Given the description of an element on the screen output the (x, y) to click on. 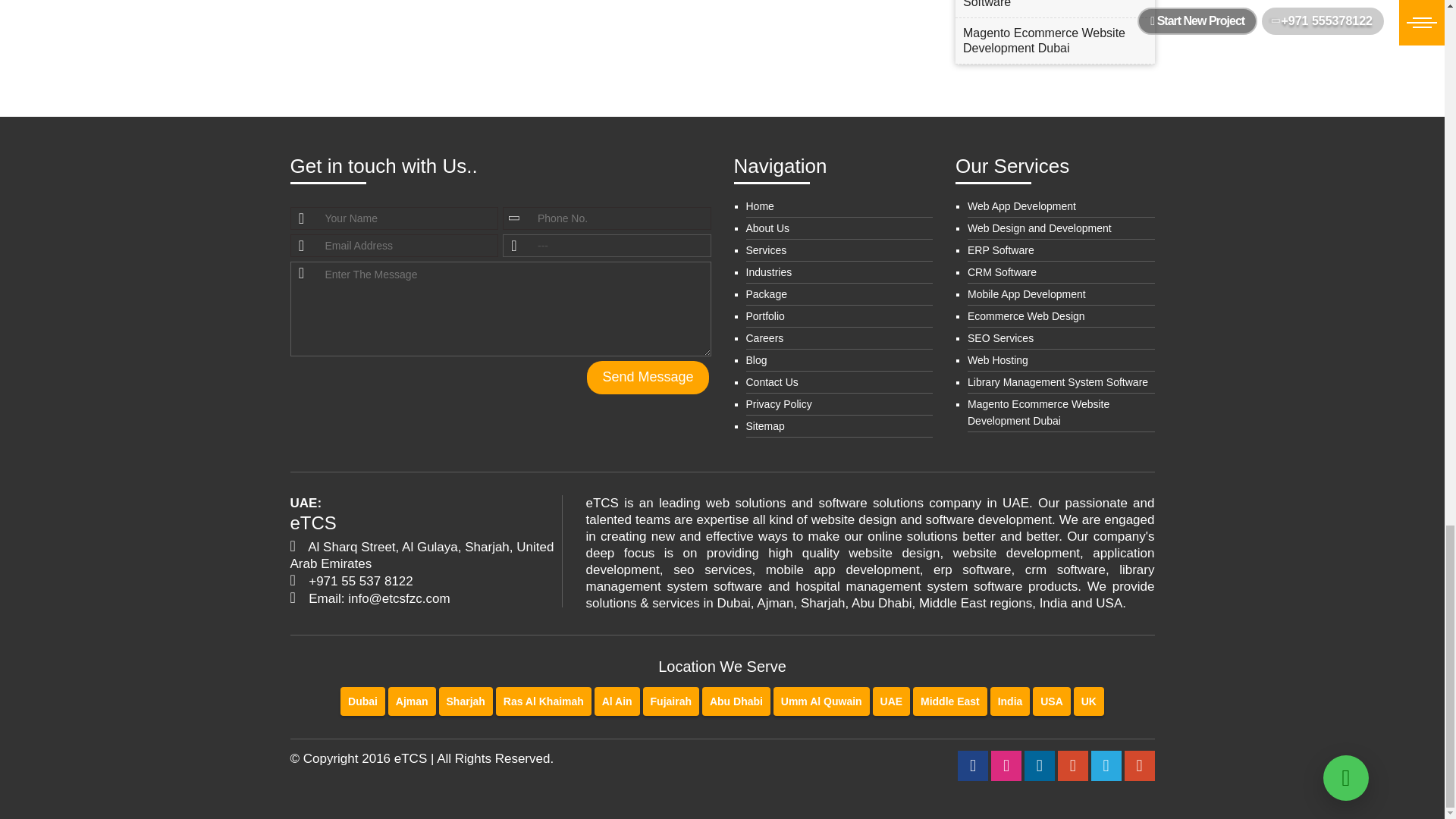
Send Message (646, 377)
